Given the description of an element on the screen output the (x, y) to click on. 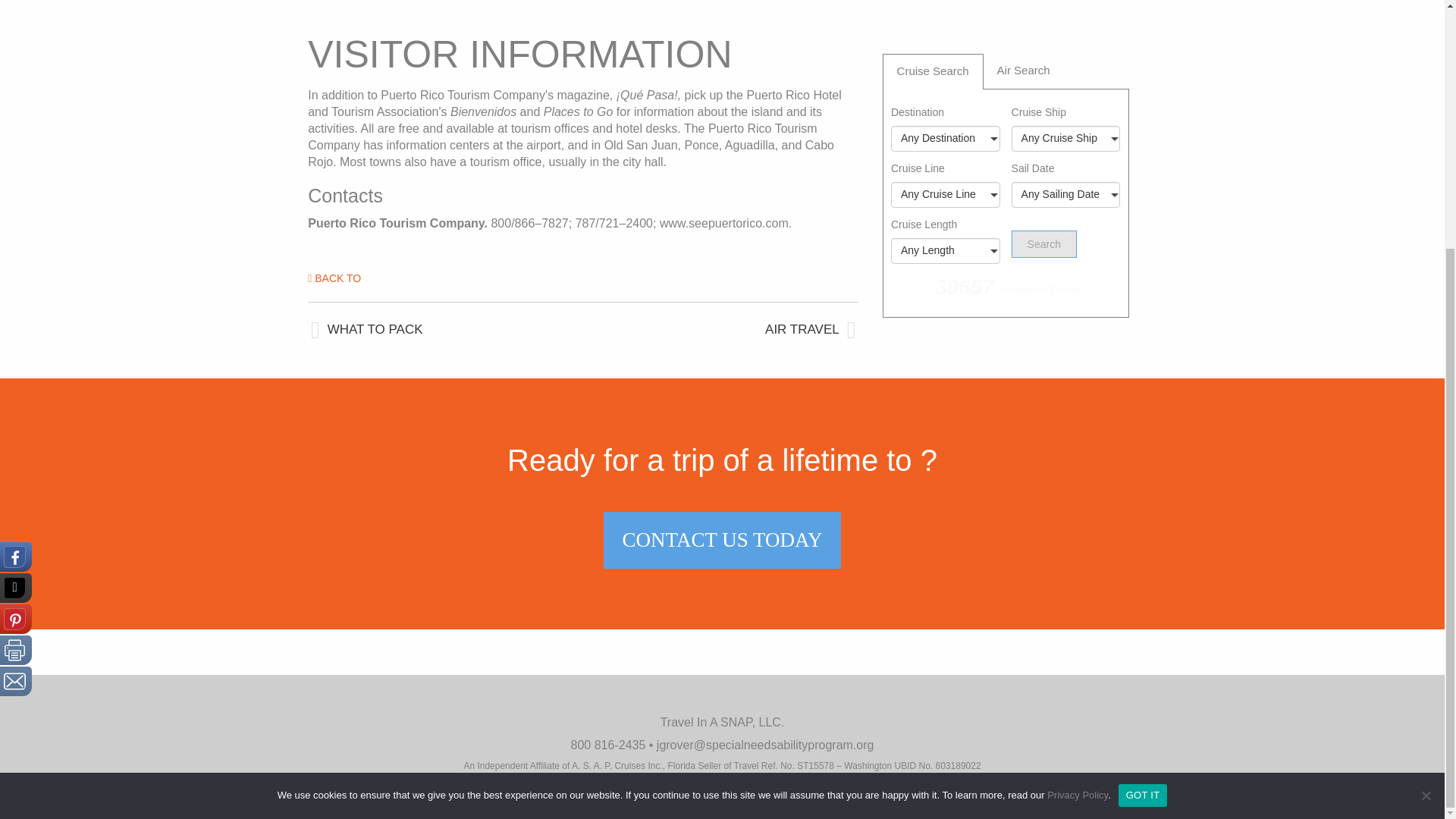
www.seepuertorico.com (724, 223)
Search (1044, 243)
No (1425, 447)
BACK TO (334, 278)
